Given the description of an element on the screen output the (x, y) to click on. 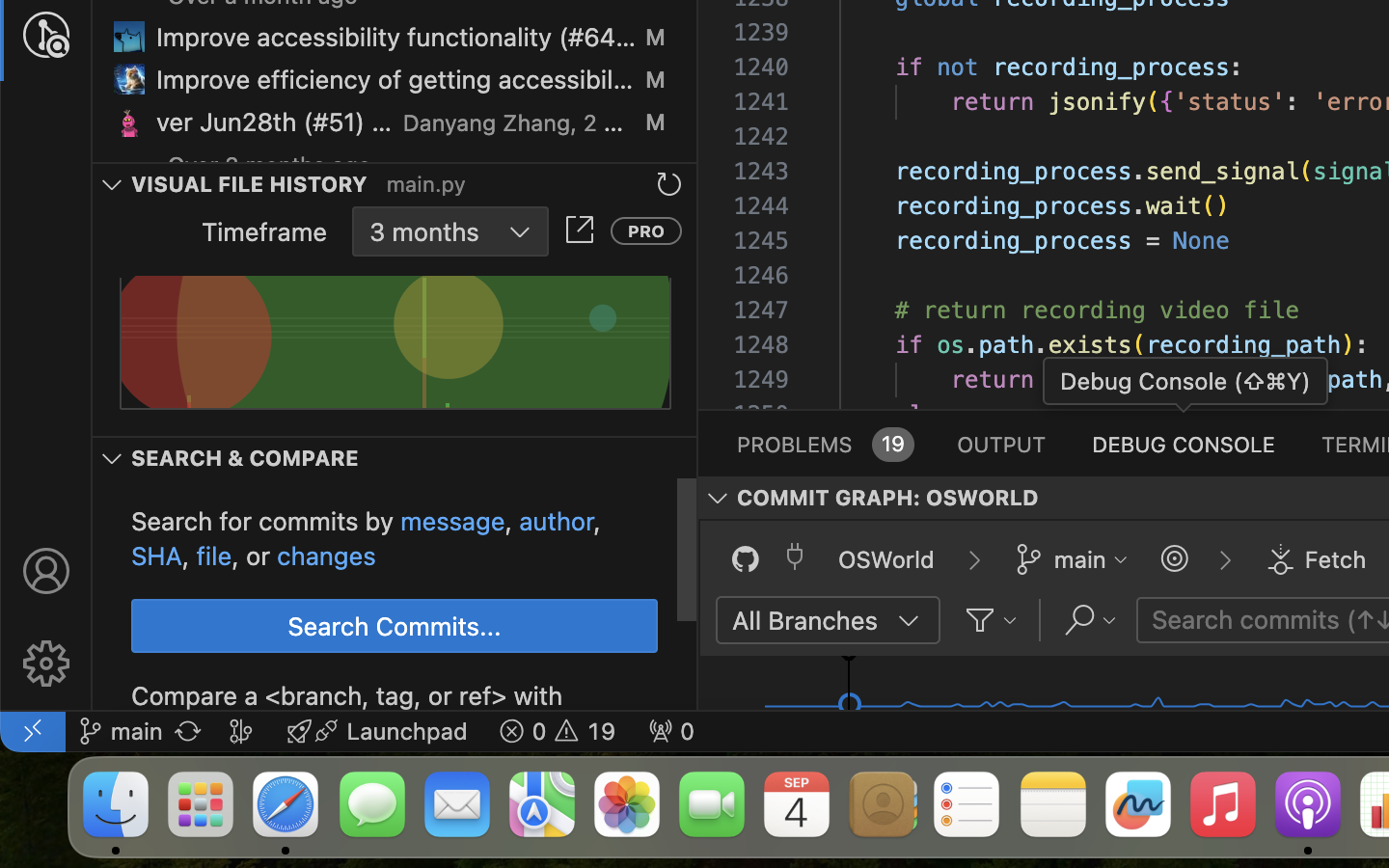
 Element type: AXStaticText (46, 570)
SEARCH & COMPARE Element type: AXStaticText (244, 457)
 0 Element type: AXButton (671, 730)
ver Jun28th (#51) … Element type: AXStaticText (274, 122)
0 OUTPUT Element type: AXRadioButton (1001, 443)
